Given the description of an element on the screen output the (x, y) to click on. 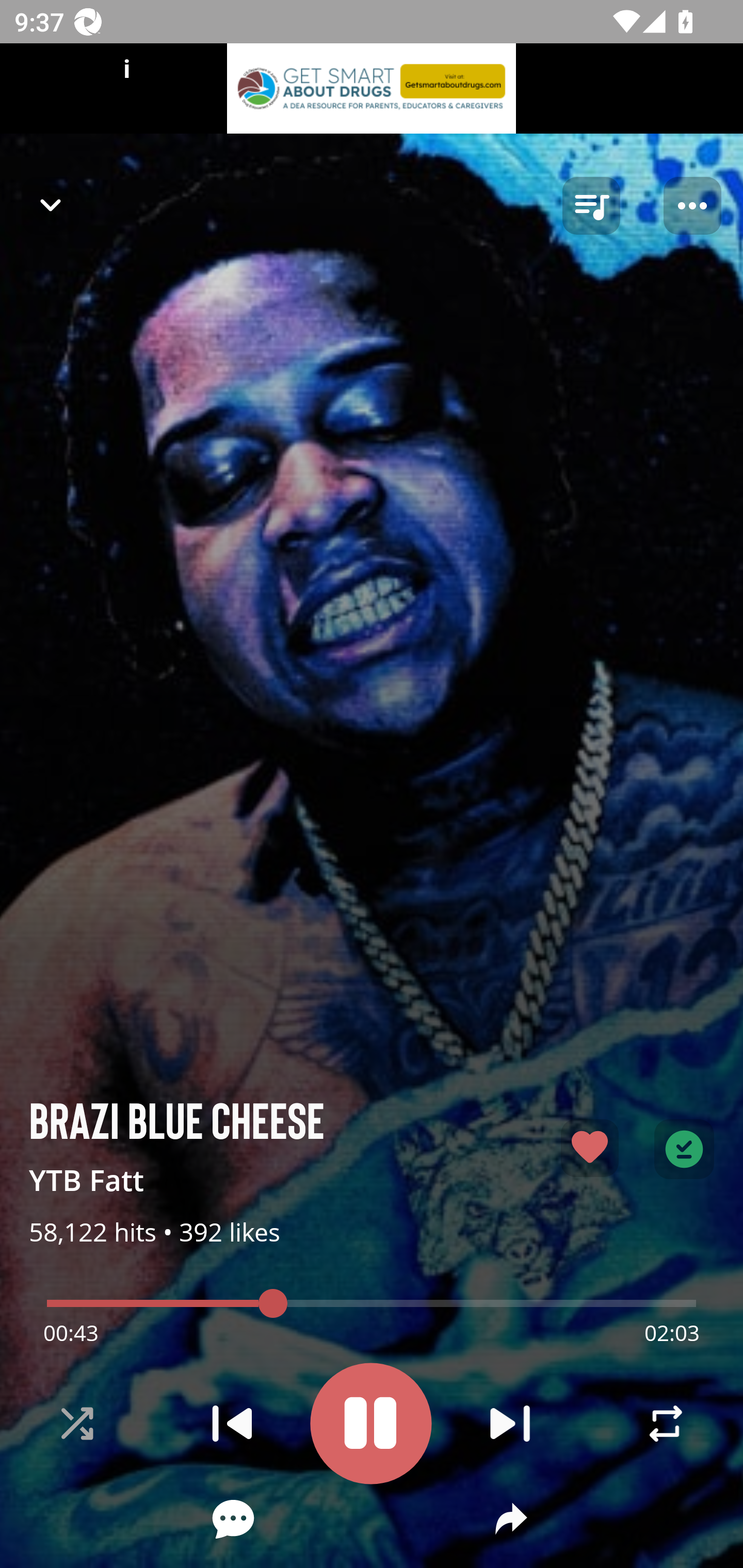
Navigate up (50, 205)
queue (590, 206)
Player options (692, 206)
